Given the description of an element on the screen output the (x, y) to click on. 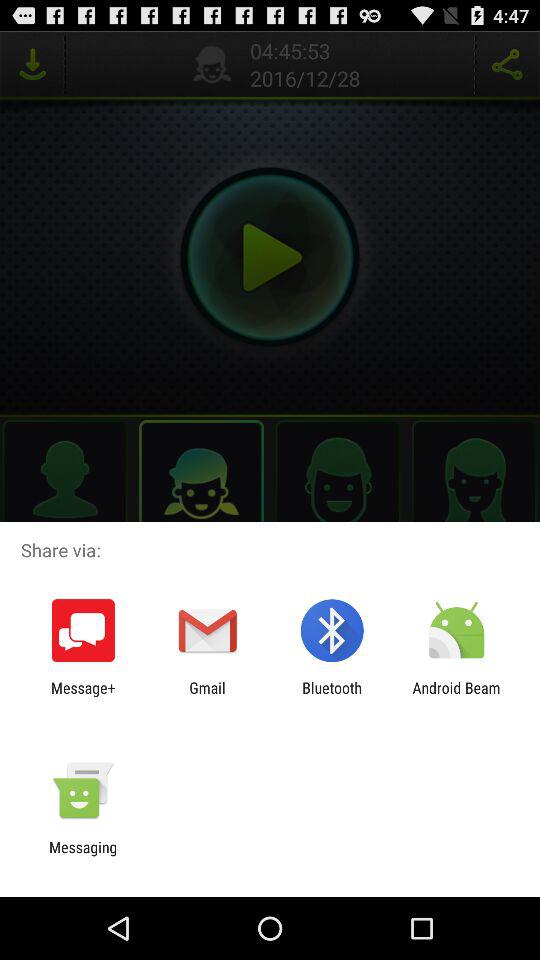
launch android beam (456, 696)
